Given the description of an element on the screen output the (x, y) to click on. 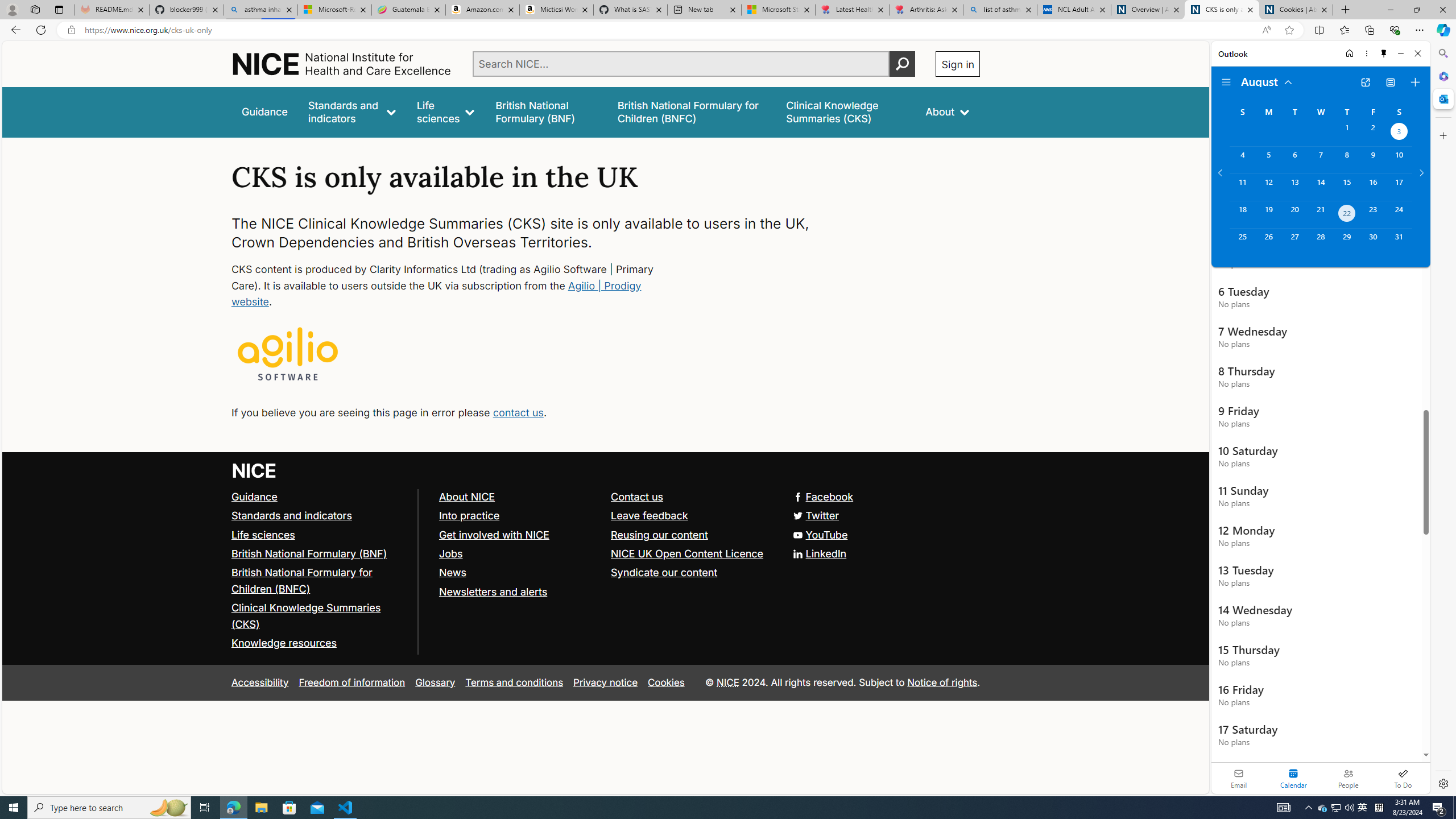
Cookies | About | NICE (1295, 9)
Get involved with NICE (518, 534)
Sunday, August 4, 2024.  (1242, 159)
YouTube (820, 534)
Terms and conditions (514, 682)
Leave feedback (649, 515)
Wednesday, August 21, 2024.  (1320, 214)
Friday, August 16, 2024.  (1372, 186)
Twitter (605, 515)
Newsletters and alerts (492, 591)
